Given the description of an element on the screen output the (x, y) to click on. 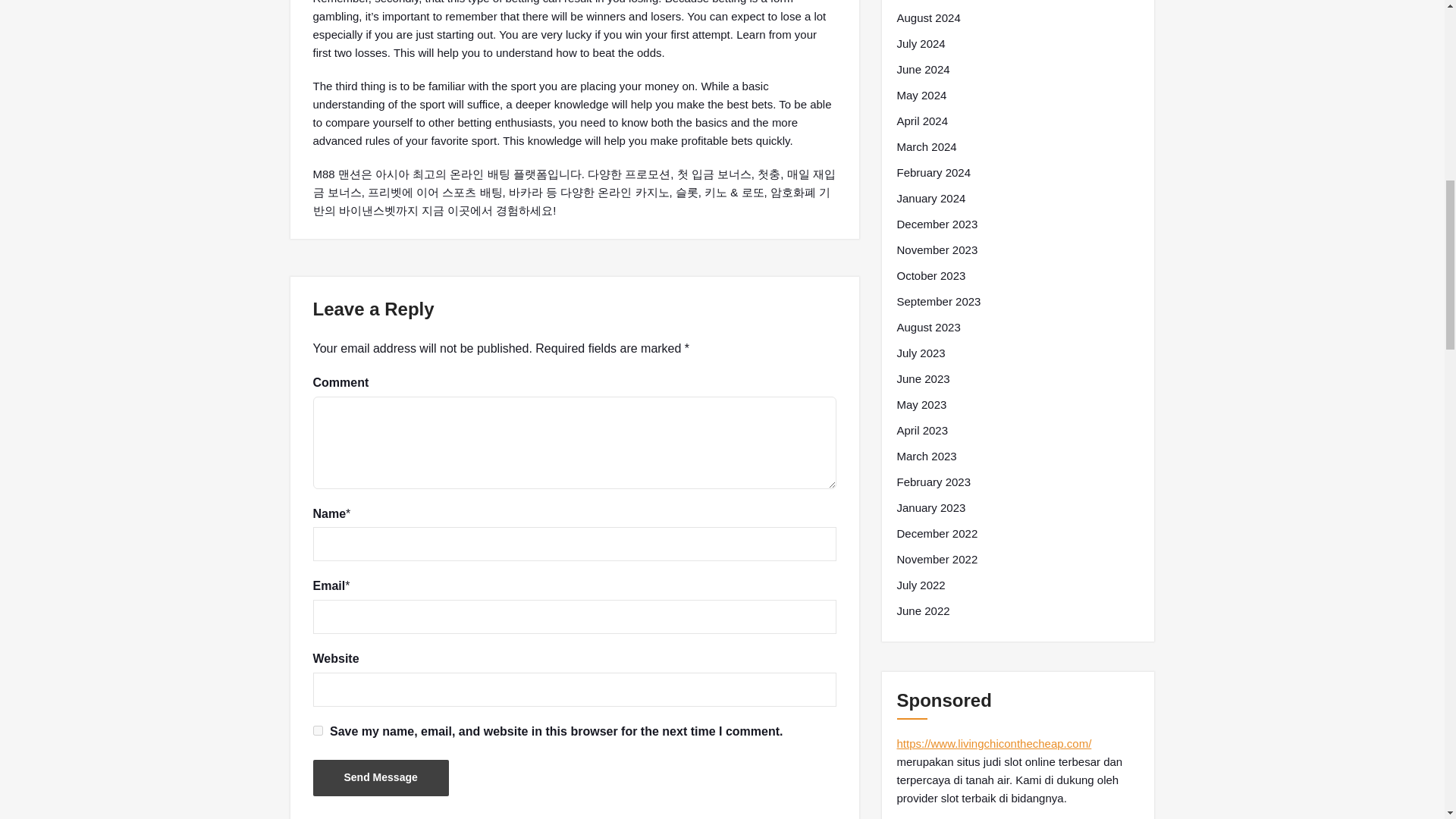
August 2024 (927, 18)
July 2024 (920, 44)
January 2024 (930, 198)
February 2024 (933, 172)
Send Message (380, 778)
Send Message (380, 778)
December 2023 (936, 224)
December 2022 (936, 533)
June 2024 (922, 69)
May 2023 (921, 404)
